Given the description of an element on the screen output the (x, y) to click on. 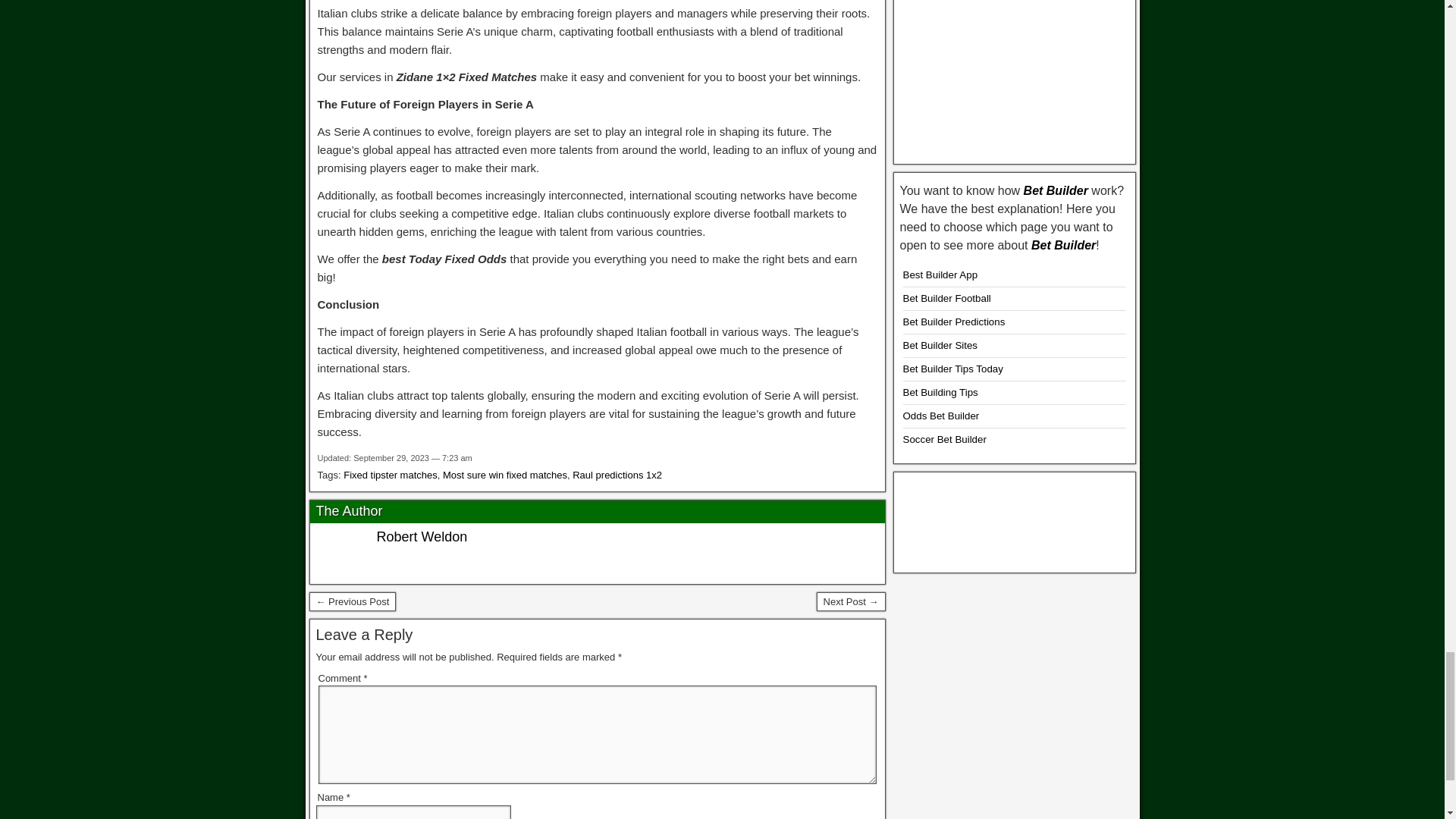
Fixed tipster matches (390, 474)
No Limit Bet 1x2 (850, 601)
Raul predictions 1x2 (617, 474)
big odds fixed matches (1014, 519)
Bet Builder Bet365 Bookie (1014, 74)
Most sure win fixed matches (504, 474)
HT FT Fixed Matches Free Tips (352, 601)
Robert Weldon (421, 536)
